Given the description of an element on the screen output the (x, y) to click on. 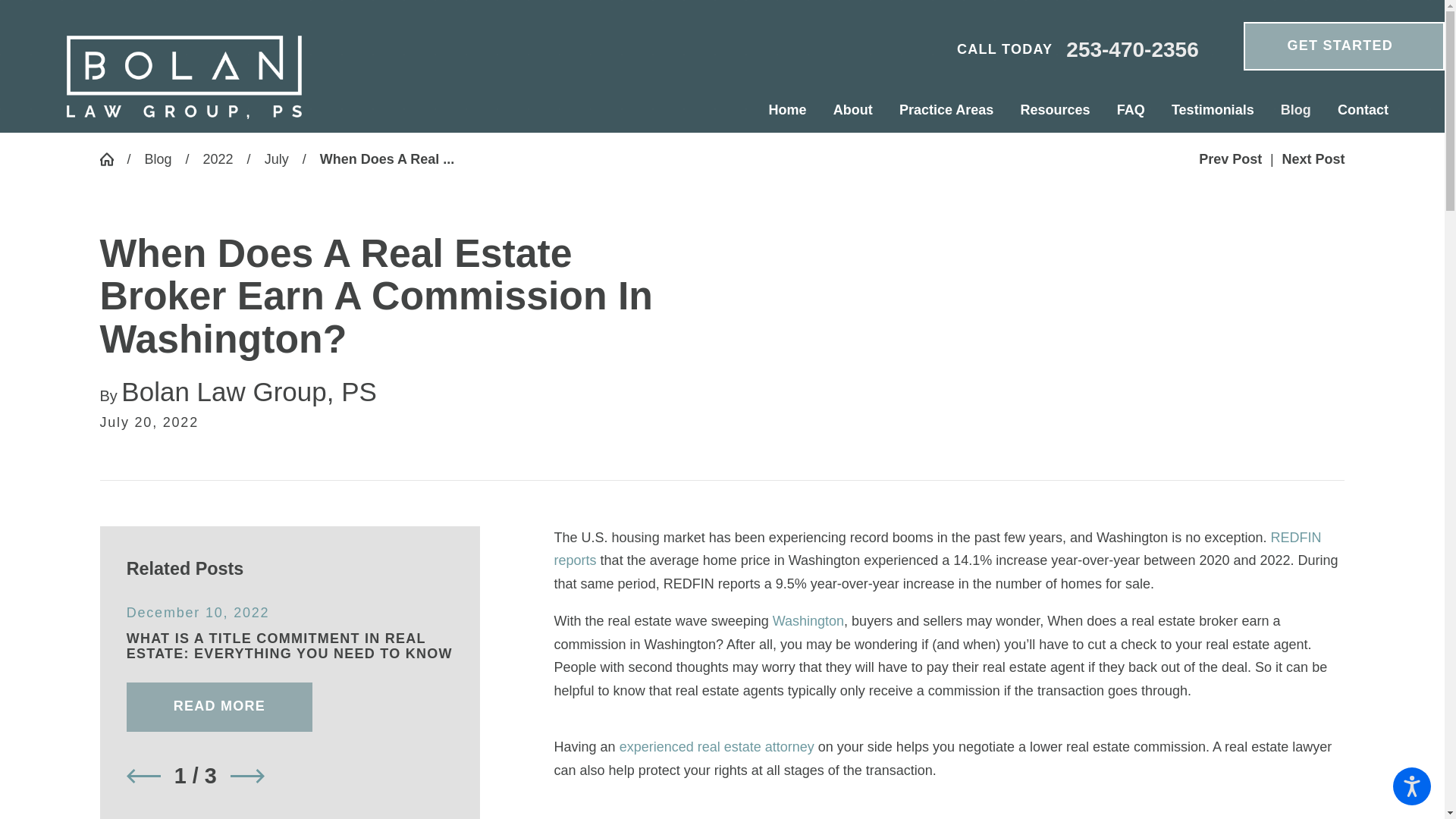
253-470-2356 (1131, 49)
View previous item (143, 776)
Practice Areas (946, 110)
Blog (1294, 110)
Testimonials (1211, 110)
View next item (247, 776)
FAQ (1130, 110)
Open the accessibility options menu (1412, 786)
Home (794, 110)
Resources (1055, 110)
Bolan Law Group, PS (183, 76)
About (852, 110)
Contact (1356, 110)
Go Home (114, 159)
